Given the description of an element on the screen output the (x, y) to click on. 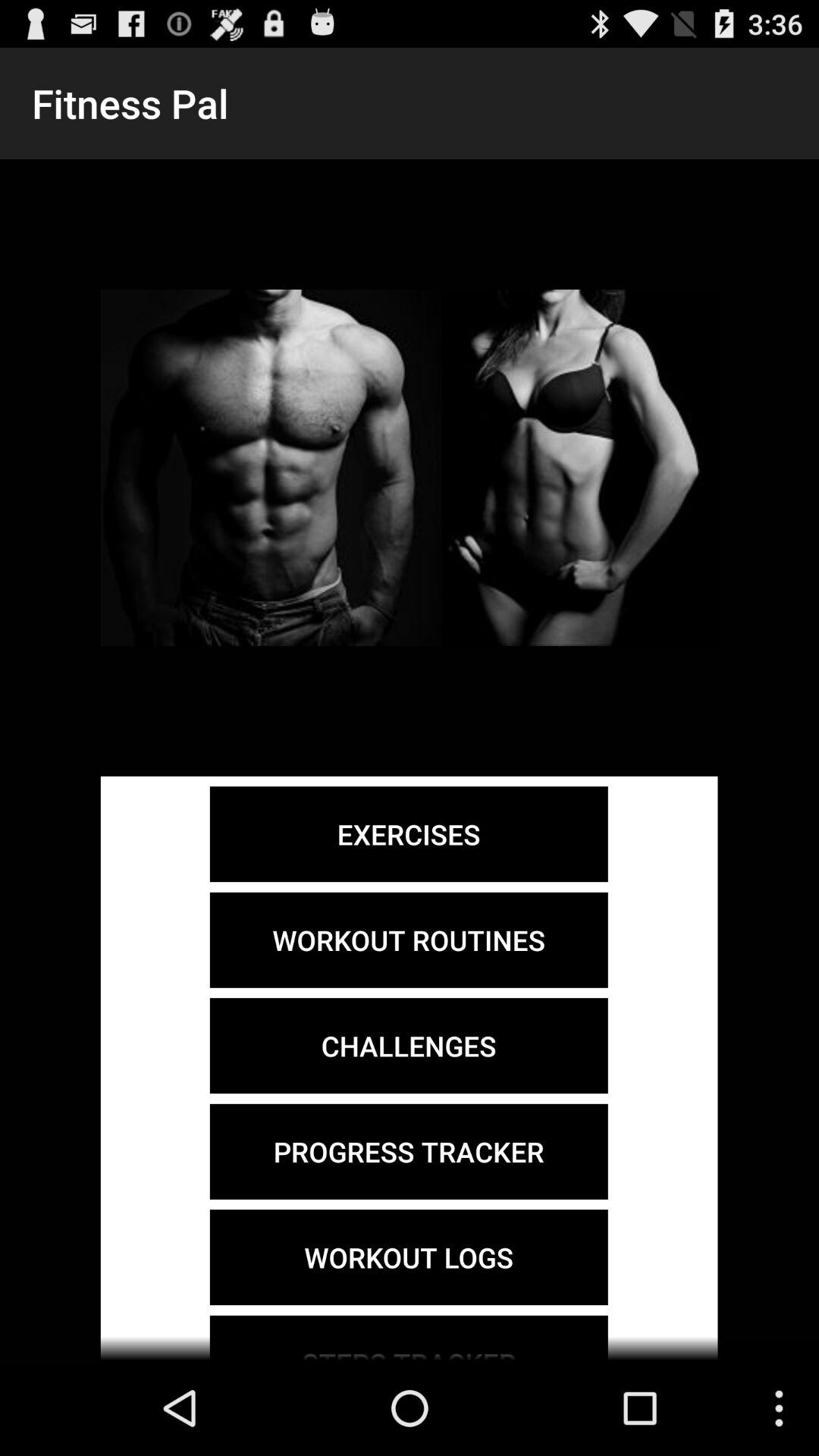
turn on item below workout logs item (408, 1337)
